Given the description of an element on the screen output the (x, y) to click on. 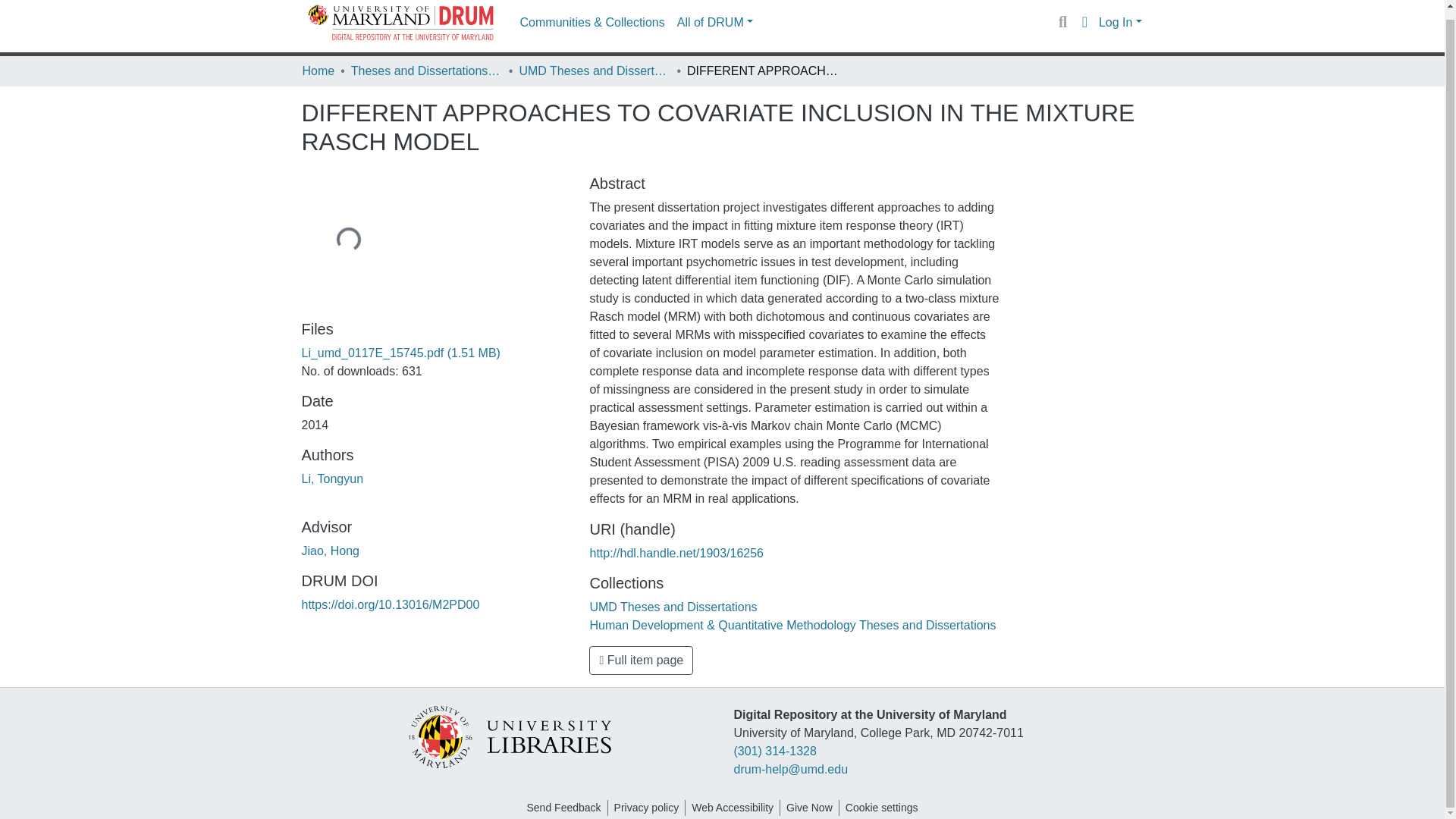
Li, Tongyun (332, 478)
Log In (1119, 21)
UMD Theses and Dissertations (673, 606)
Send Feedback (563, 807)
Give Now (809, 807)
Language switch (1084, 22)
Jiao, Hong (330, 550)
All of DRUM (714, 21)
Privacy policy (646, 807)
UMD Theses and Dissertations (593, 71)
Theses and Dissertations from UMD (426, 71)
Home (317, 71)
Full item page (641, 660)
Libraries Home Page (508, 735)
Web Accessibility (731, 807)
